Given the description of an element on the screen output the (x, y) to click on. 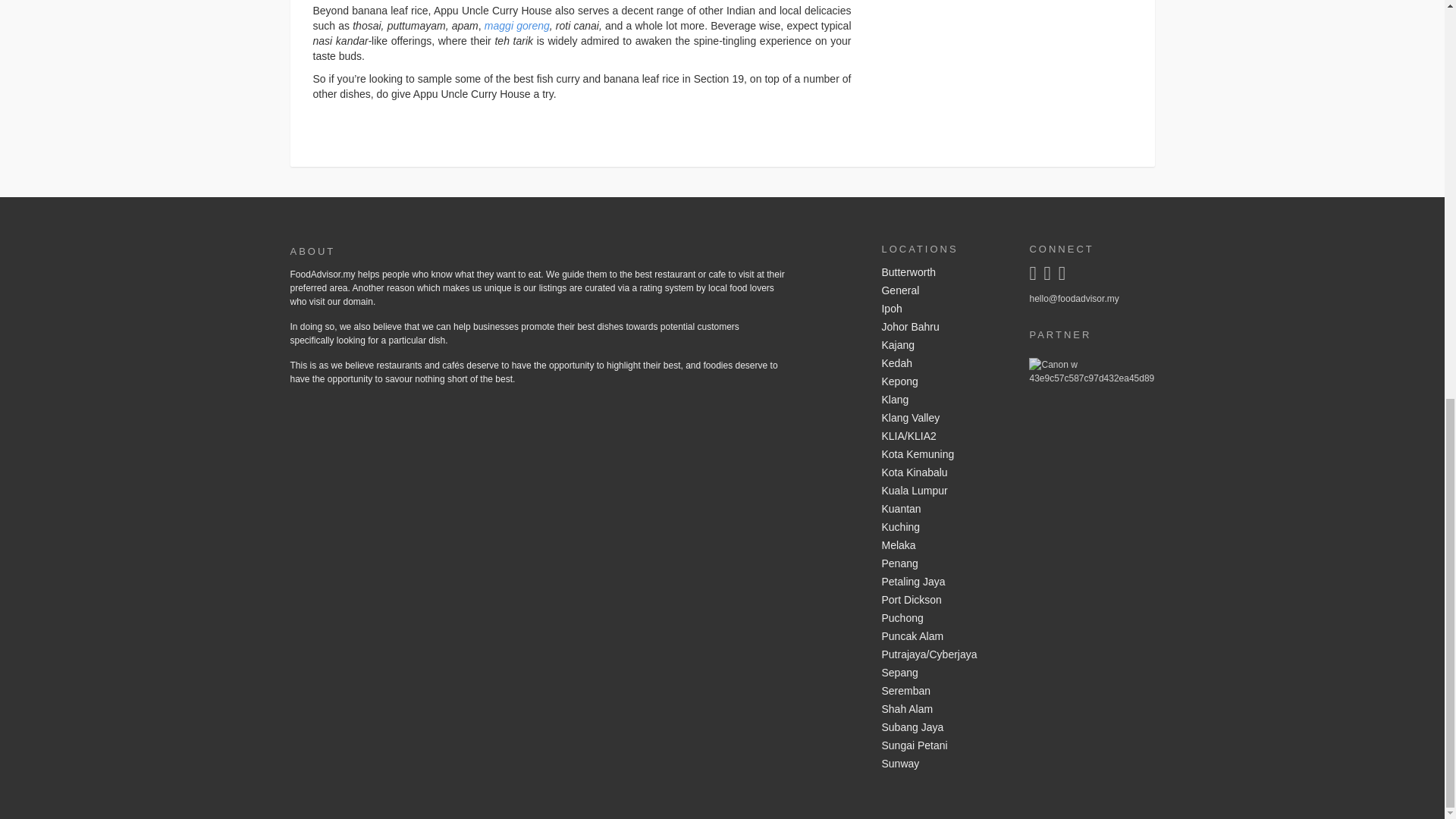
Kuala Lumpur (943, 491)
Kota Kinabalu (943, 473)
Kota Kemuning (943, 454)
Ipoh (943, 309)
Penang (943, 564)
Puncak Alam (943, 637)
Puchong (943, 618)
Kajang (943, 345)
General (943, 290)
Petaling Jaya (943, 582)
Klang Valley (943, 418)
Butterworth (943, 272)
Kuching (943, 527)
Kuantan (943, 509)
Port Dickson (943, 600)
